Given the description of an element on the screen output the (x, y) to click on. 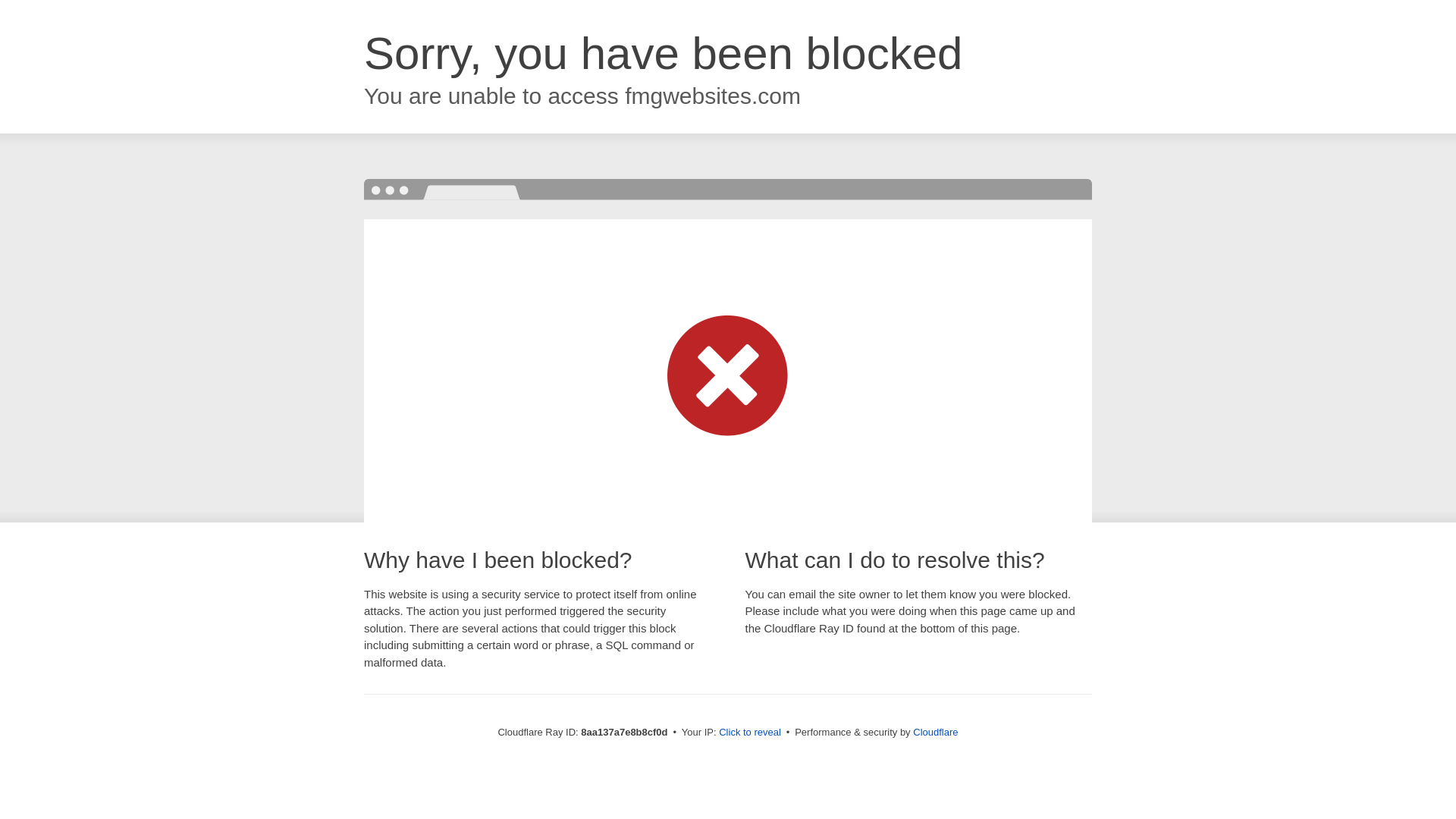
Cloudflare (935, 731)
Click to reveal (749, 732)
